Given the description of an element on the screen output the (x, y) to click on. 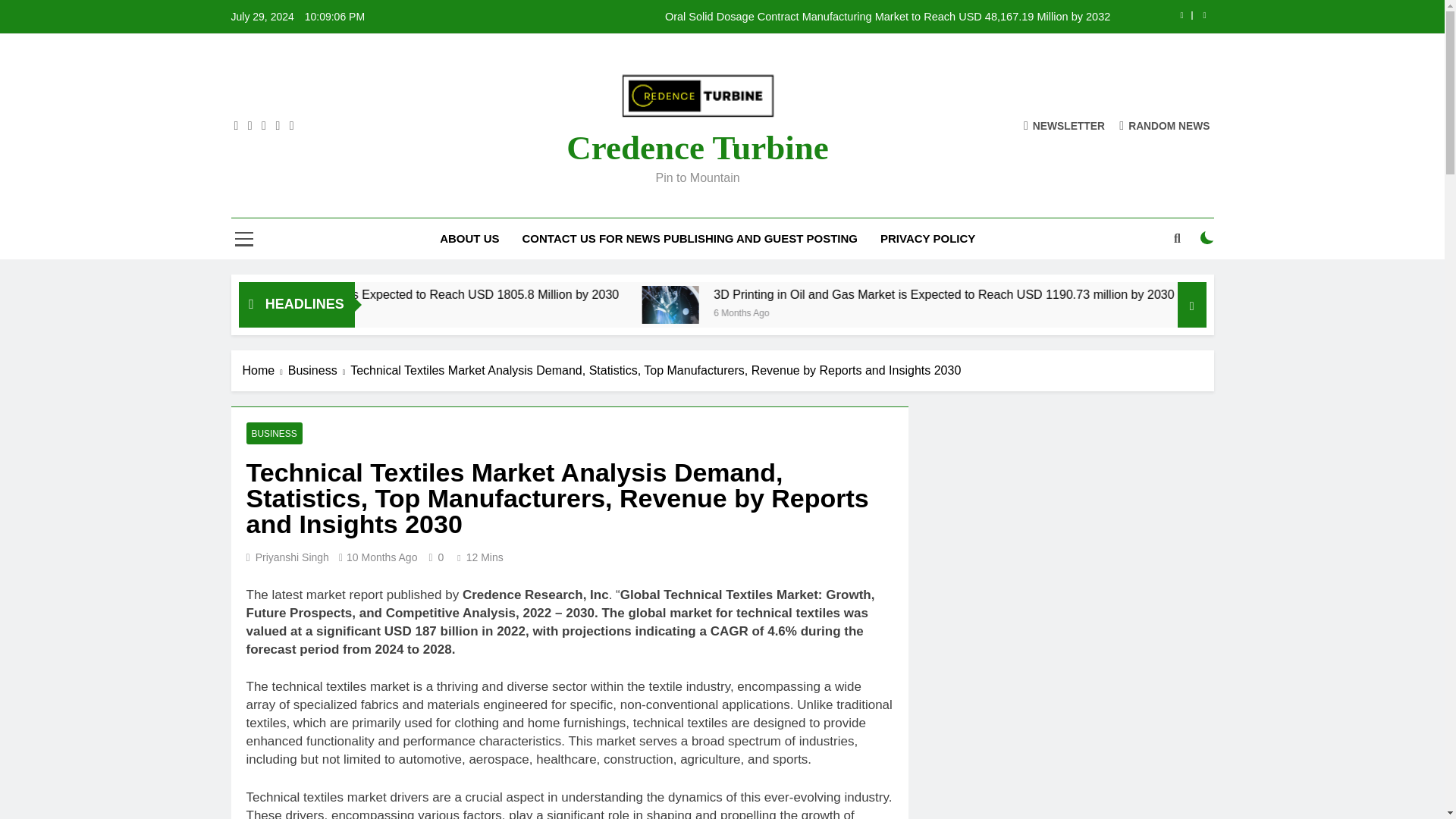
6 Months Ago (938, 311)
on (1206, 237)
RANDOM NEWS (1164, 124)
PRIVACY POLICY (928, 238)
NEWSLETTER (1064, 124)
ABOUT US (469, 238)
6 Months Ago (397, 311)
